Given the description of an element on the screen output the (x, y) to click on. 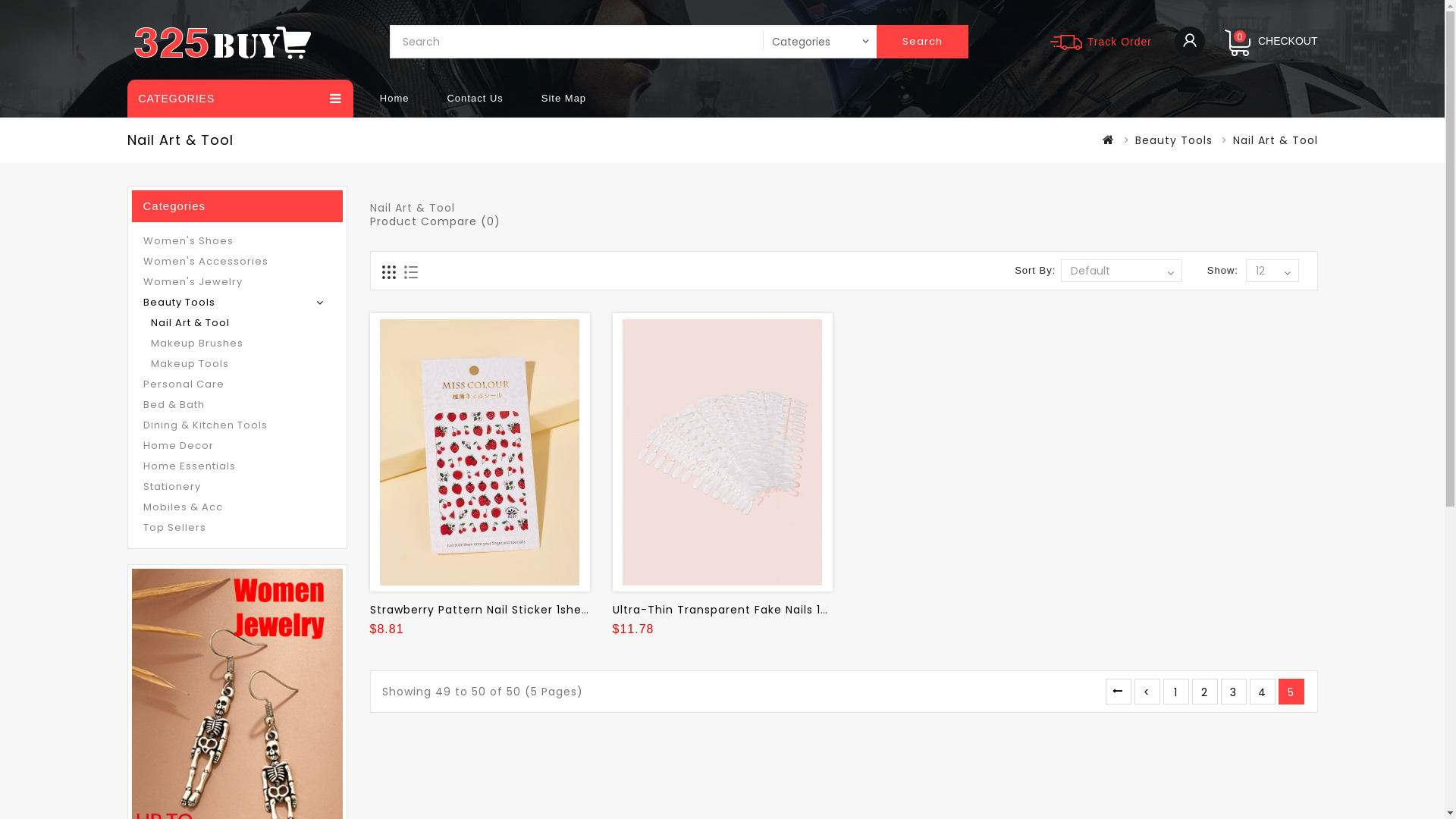
log in Element type: hover (1189, 41)
Top Sellers Element type: text (236, 526)
Women's Accessories Element type: text (236, 260)
Mobiles & Acc Element type: text (236, 505)
Nail Art & Tool Element type: text (240, 321)
Bed & Bath Element type: text (236, 403)
3 Element type: text (1233, 691)
2 Element type: text (1204, 691)
Contact Us Element type: text (474, 97)
Makeup Tools Element type: text (240, 362)
Makeup Brushes Element type: text (240, 342)
Home Element type: text (394, 97)
Nail Art & Tool Element type: text (1275, 139)
Home Essentials Element type: text (236, 465)
Strawberry Pattern Nail Sticker 1sheet Element type: text (482, 609)
Strawberry Pattern Nail Sticker 1sheet Element type: hover (479, 452)
Home Decor Element type: text (236, 444)
Dining & Kitchen Tools Element type: text (236, 424)
Search Element type: text (922, 41)
Ultra-Thin Transparent Fake Nails 10pack Element type: text (734, 609)
325buy.com Element type: hover (221, 41)
Women's Shoes Element type: text (236, 239)
Beauty Tools Element type: text (1172, 139)
Women's Jewelry Element type: text (236, 280)
Ultra-thin Transparent Fake Nails 10pack Element type: hover (722, 452)
Site Map Element type: text (563, 97)
Product Compare (0) Element type: text (435, 221)
Stationery Element type: text (236, 485)
CHECKOUT
0 Element type: text (1268, 40)
Personal Care Element type: text (236, 383)
Beauty Tools Element type: text (236, 301)
4 Element type: text (1262, 691)
1 Element type: text (1176, 691)
< Element type: text (1147, 691)
|< Element type: text (1118, 691)
